Given the description of an element on the screen output the (x, y) to click on. 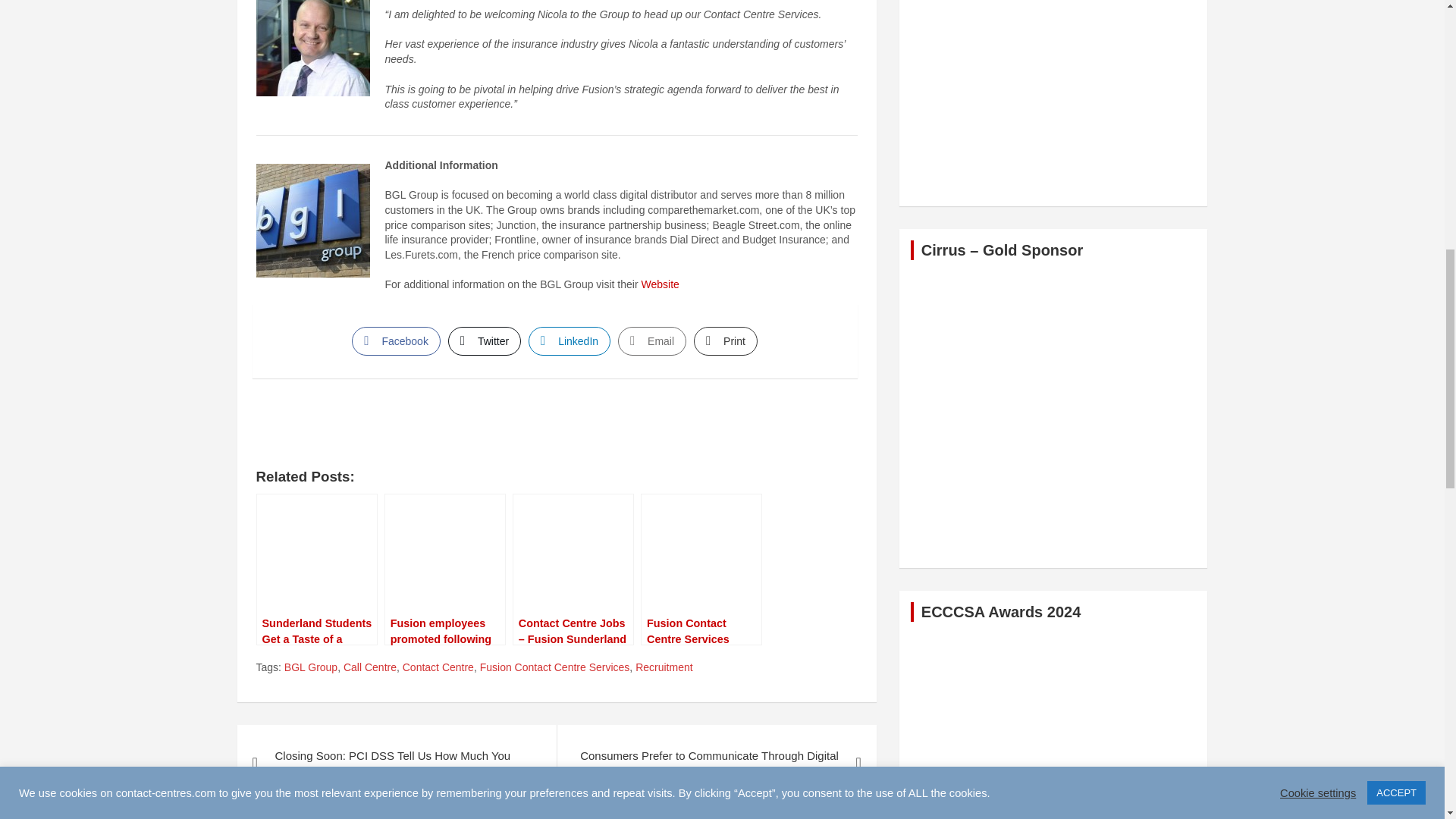
BGL Group (310, 667)
Website (659, 284)
LinkedIn (569, 340)
Facebook (395, 340)
Twitter (484, 340)
Call Centre (369, 667)
Email (651, 340)
Print (725, 340)
